Given the description of an element on the screen output the (x, y) to click on. 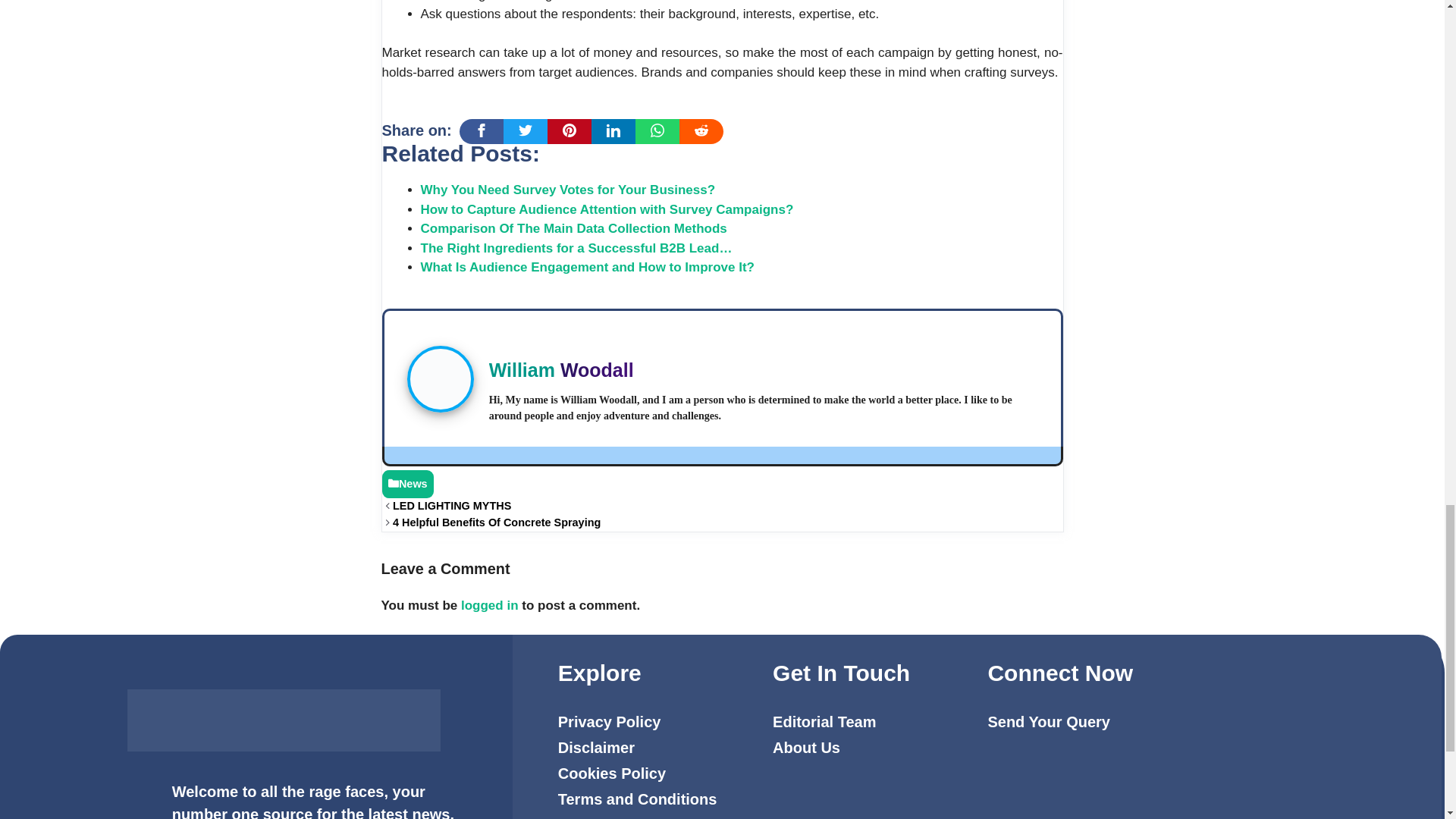
What Is Audience Engagement and How to Improve It? (587, 267)
4 Helpful Benefits Of Concrete Spraying  (498, 522)
News (413, 483)
Why You Need Survey Votes for Your Business? (567, 189)
William Woodall (561, 369)
LED LIGHTING MYTHS (452, 505)
Comparison Of The Main Data Collection Methods (573, 228)
How to Capture Audience Attention with Survey Campaigns? (606, 209)
